Given the description of an element on the screen output the (x, y) to click on. 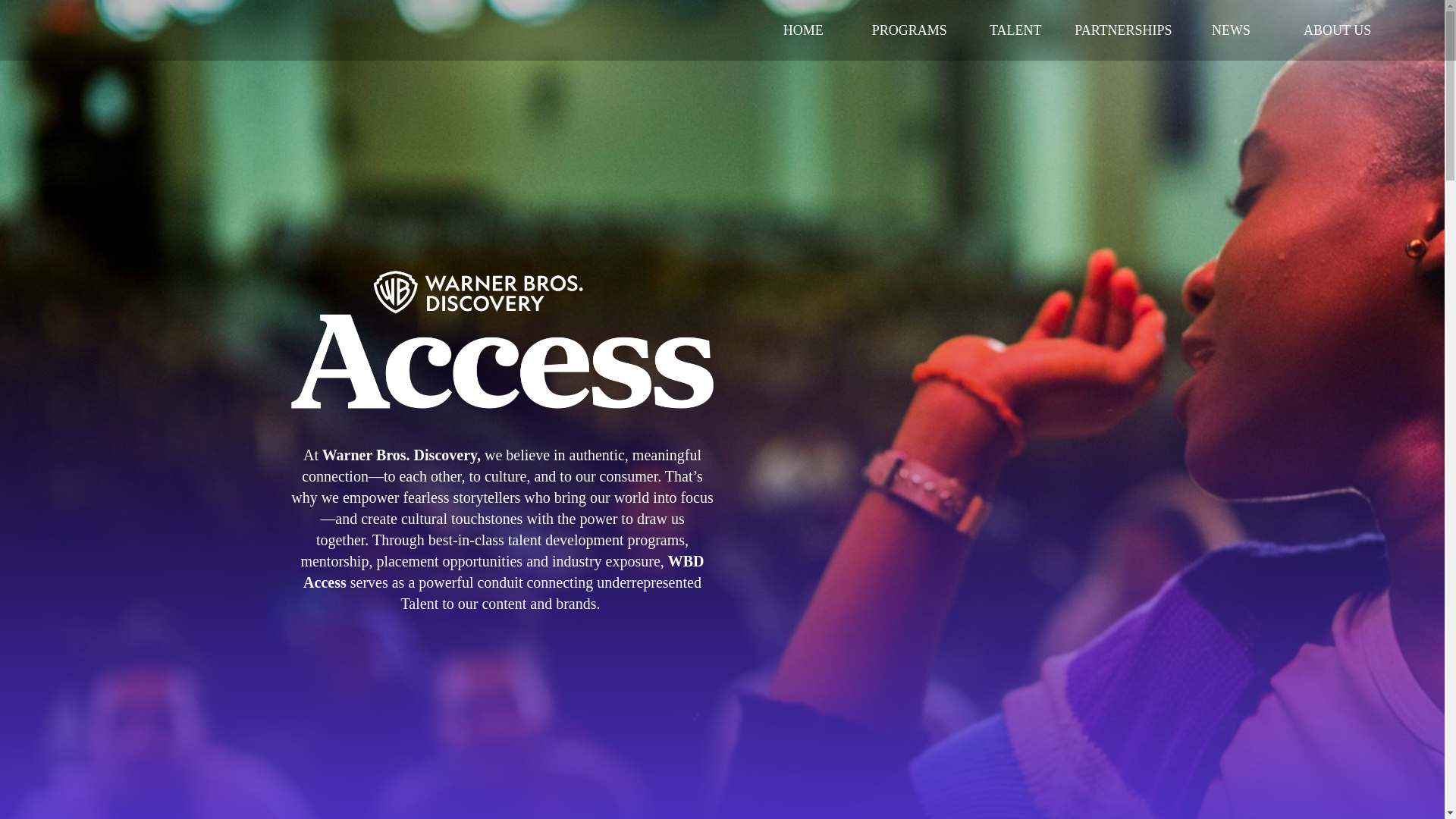
HOME (802, 30)
ABOUT US (1337, 30)
TALENT (1015, 30)
PARTNERSHIPS (1122, 30)
Welcome to Warner Media Access (502, 333)
NEWS (1230, 30)
PROGRAMS (909, 30)
